Given the description of an element on the screen output the (x, y) to click on. 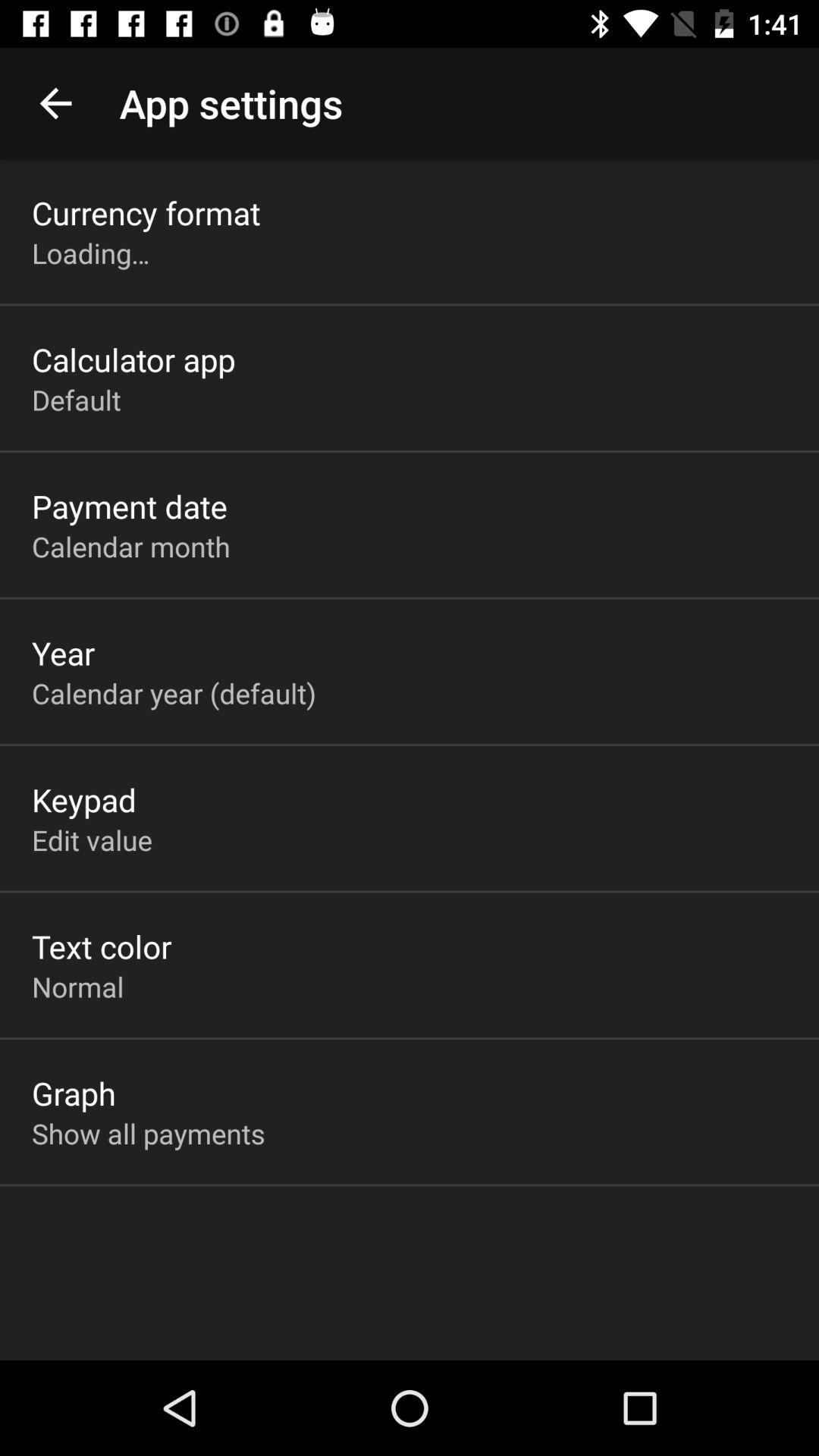
click icon below graph app (148, 1133)
